Given the description of an element on the screen output the (x, y) to click on. 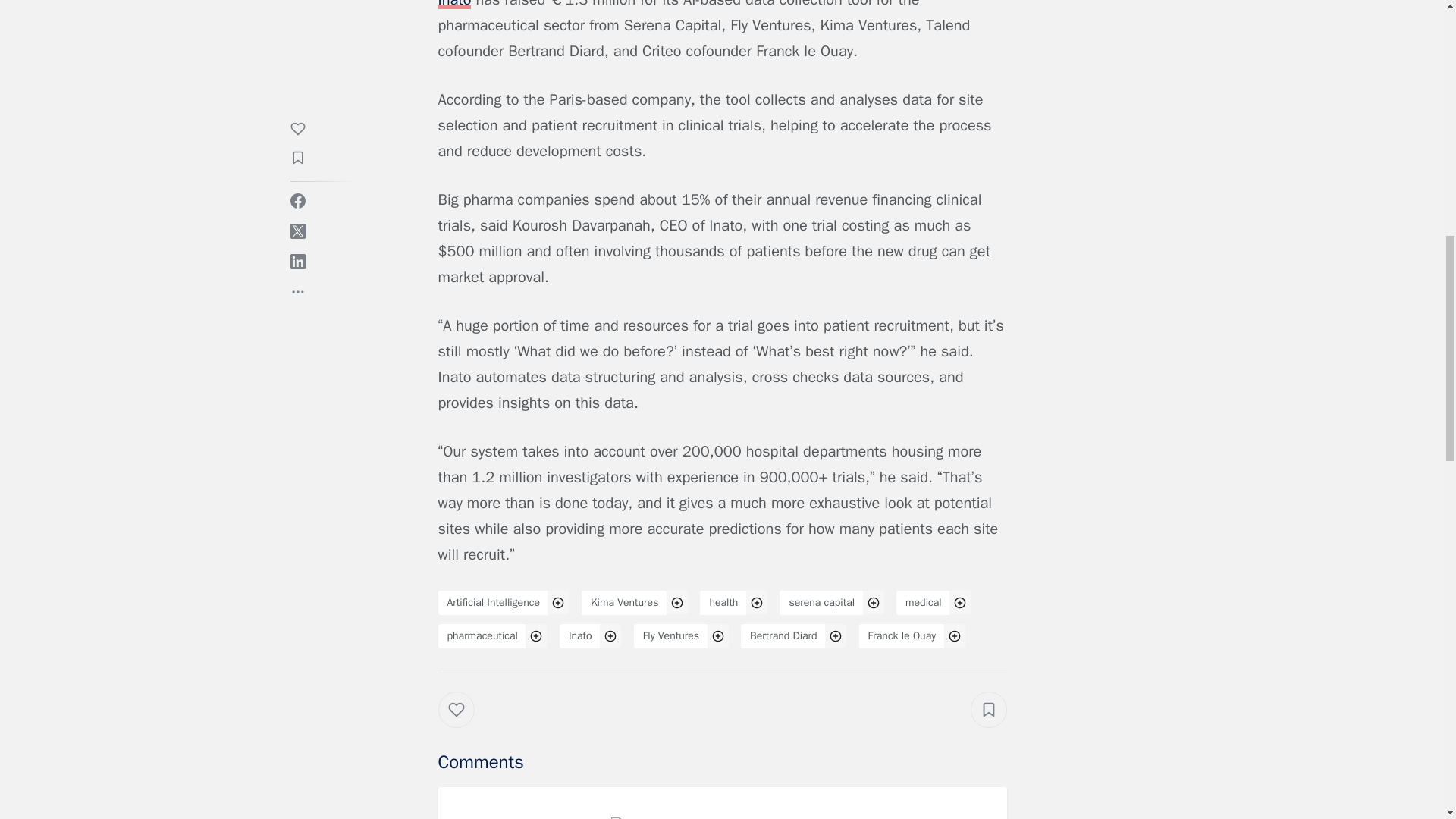
serena capital (820, 602)
Kima Ventures (623, 602)
medical (923, 602)
Fly Ventures (670, 636)
health (723, 602)
pharmaceutical (482, 636)
Artificial Intelligence (493, 602)
Inato (580, 636)
